Given the description of an element on the screen output the (x, y) to click on. 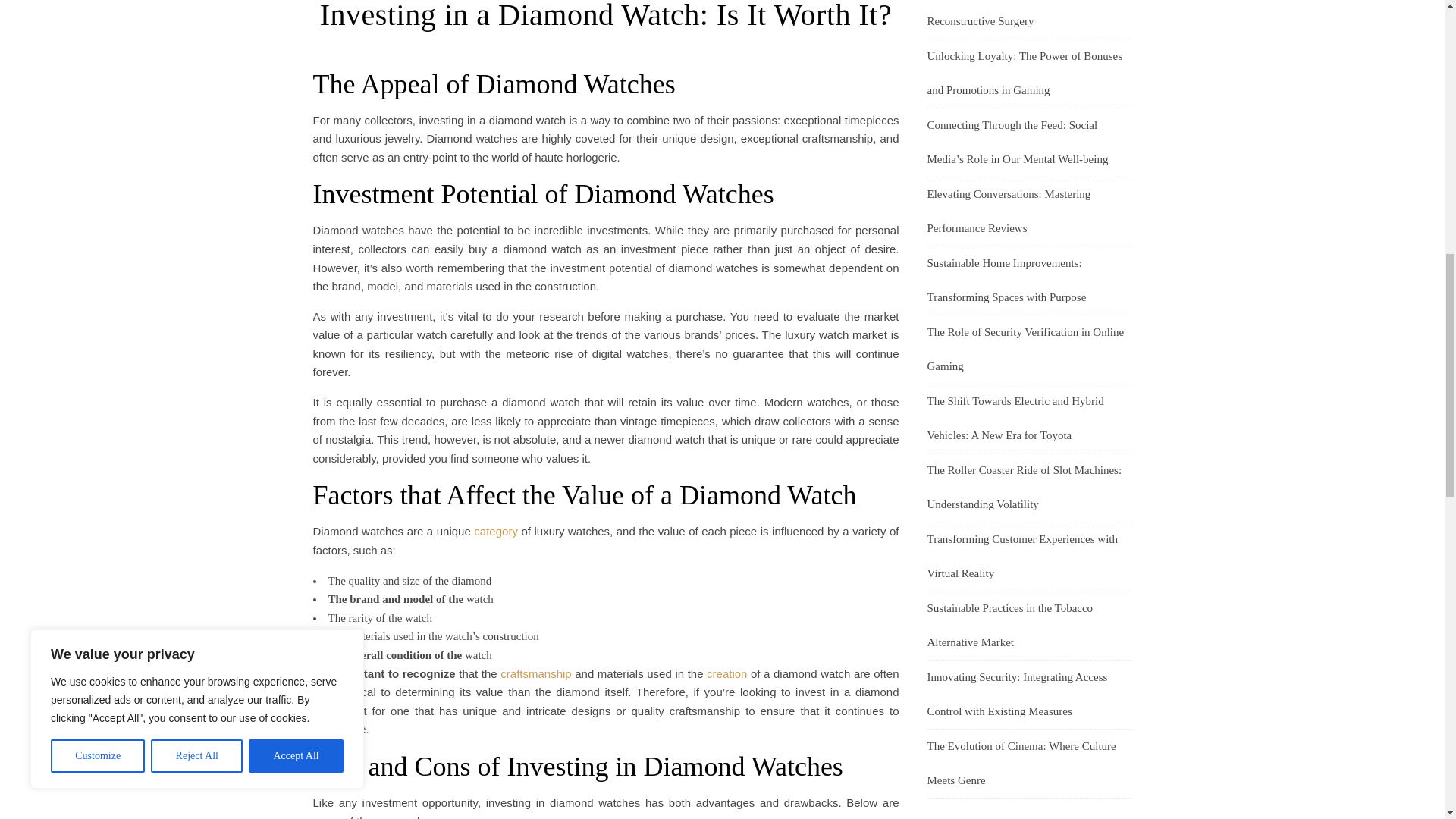
creation (726, 673)
category (496, 530)
craftsmanship (535, 673)
